Given the description of an element on the screen output the (x, y) to click on. 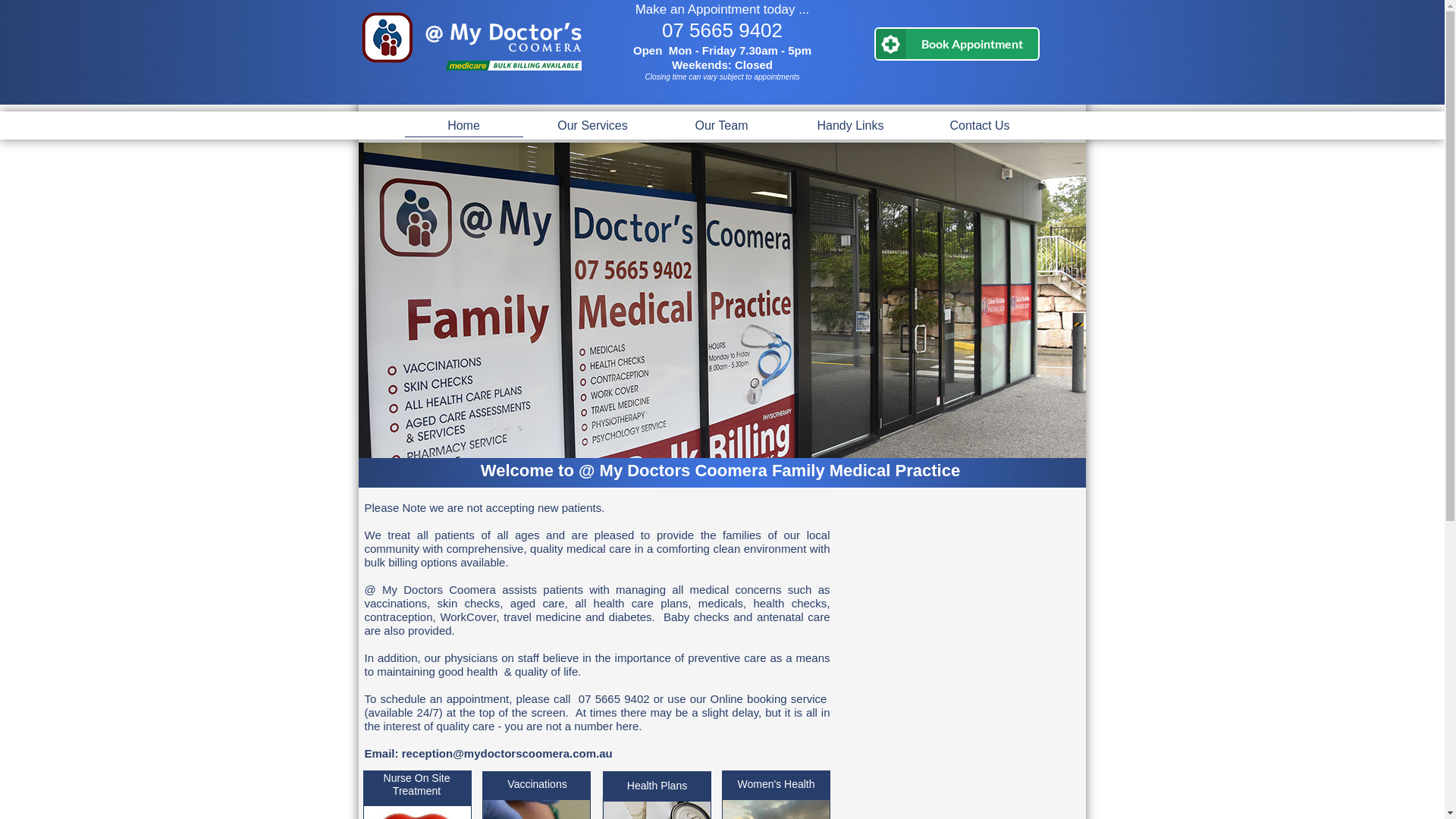
07 5665 9402 Element type: text (722, 31)
Email: reception@mydoctorscoomera.com.au Element type: text (487, 752)
Our Team Element type: text (721, 123)
Handy Links Element type: text (850, 123)
Book Appointment Element type: text (955, 43)
Home Element type: text (463, 123)
Our Services Element type: text (592, 123)
Contact Us Element type: text (979, 123)
